Given the description of an element on the screen output the (x, y) to click on. 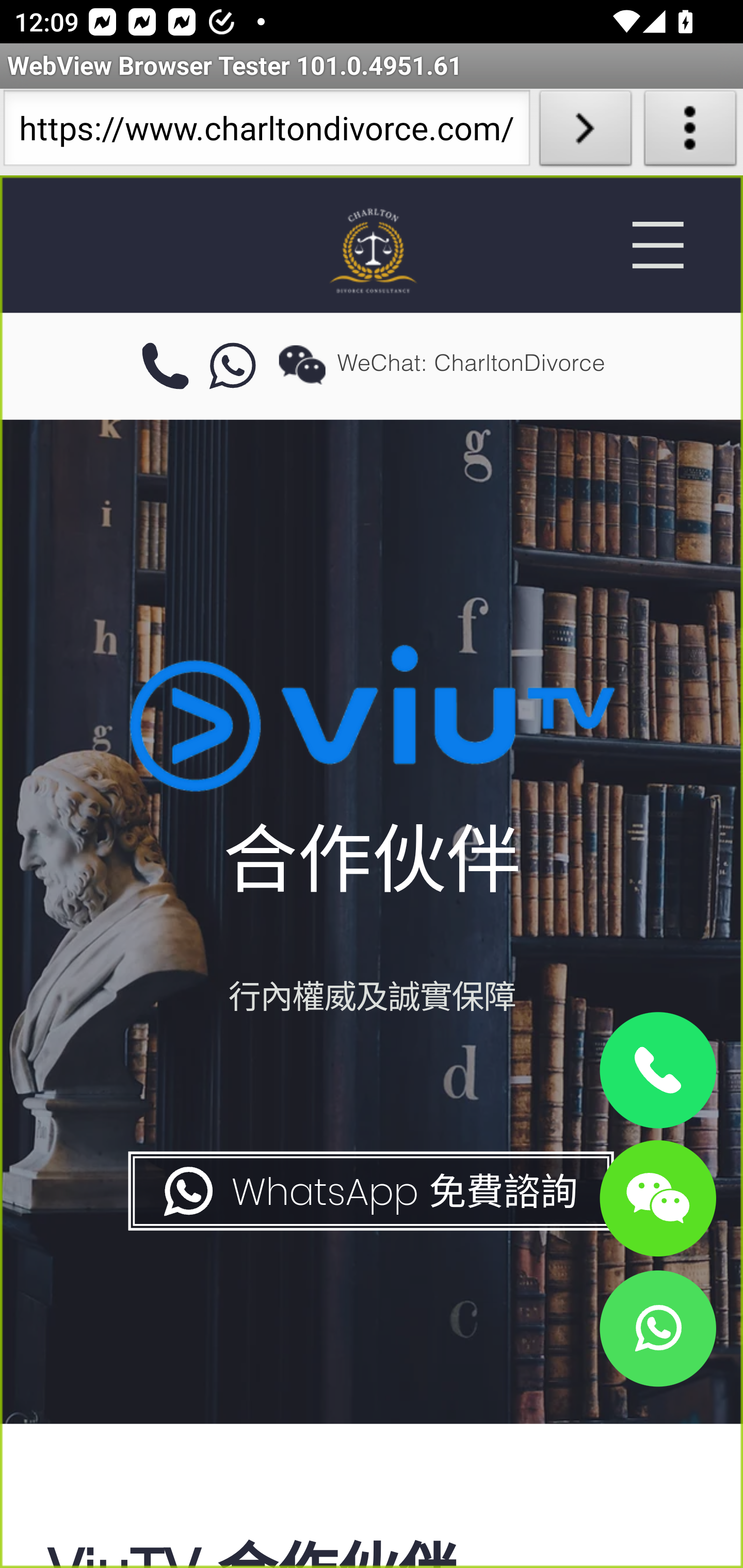
Load URL (585, 132)
About WebView (690, 132)
Open navigation menu (657, 245)
500x500 沒背景.png (371, 249)
tel:+852 9692 7577 (164, 366)
o7rumn (232, 366)
wechat2_edited_edited.png (301, 364)
Phone (657, 1070)
WeChat: CharltonDivorce (657, 1196)
WhatsApp 免費諮詢 (369, 1191)
WhatsApp (657, 1327)
